Given the description of an element on the screen output the (x, y) to click on. 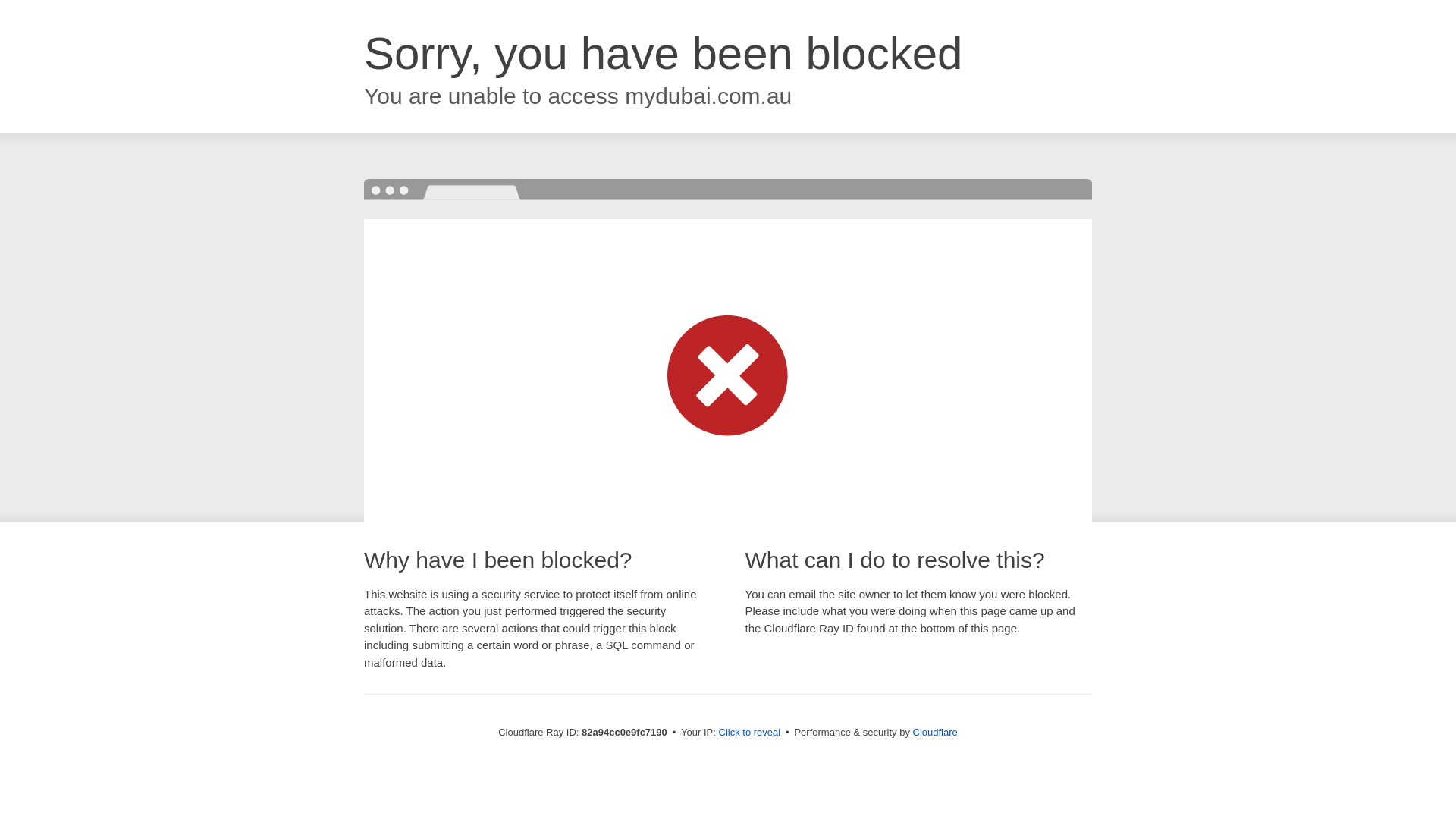
Cloudflare Element type: text (935, 731)
Click to reveal Element type: text (749, 732)
